Given the description of an element on the screen output the (x, y) to click on. 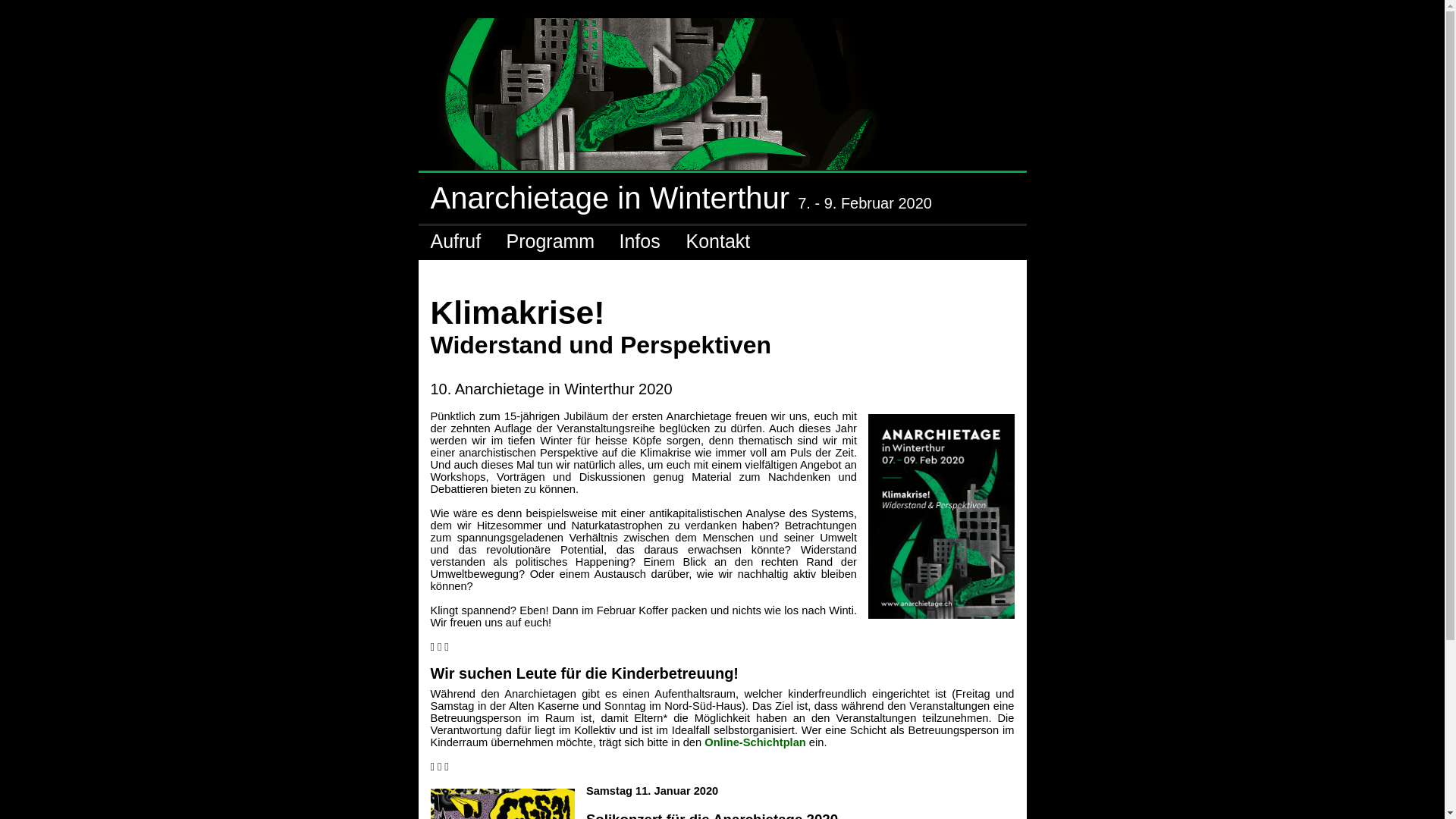
Aufruf Element type: text (455, 240)
Online-Schichtplan Element type: text (755, 742)
Infos Element type: text (640, 240)
Programm Element type: text (549, 240)
Kontakt Element type: text (718, 240)
